Given the description of an element on the screen output the (x, y) to click on. 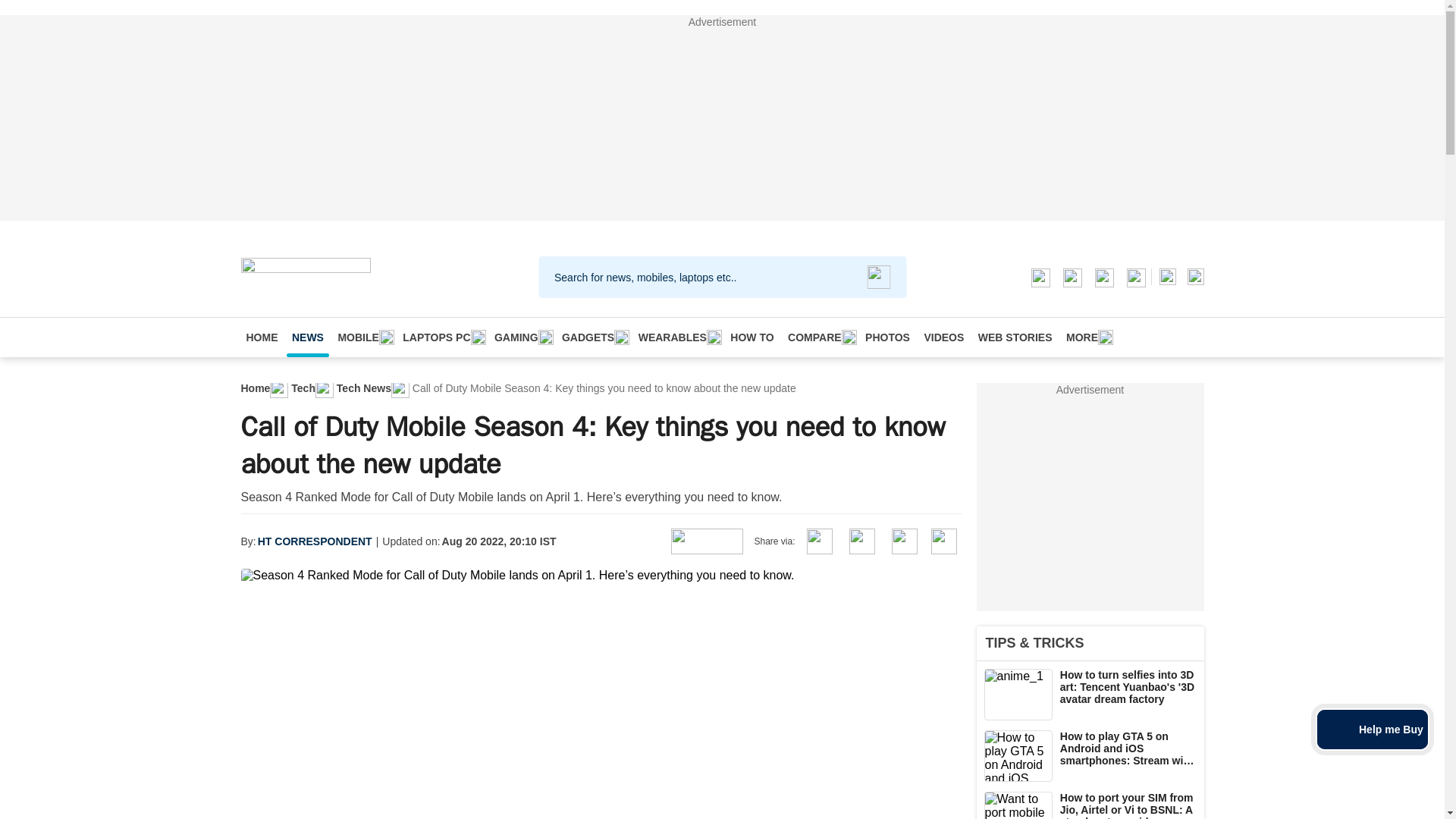
NEWS (307, 337)
youtube (1134, 276)
Get to know more about News from India and around the world. (307, 337)
WhatsApp channel (1039, 276)
twitter (1103, 276)
GADGETS (592, 337)
HOME (262, 337)
MOBILE (362, 337)
facebook (1071, 276)
LAPTOPS PC (440, 337)
